Given the description of an element on the screen output the (x, y) to click on. 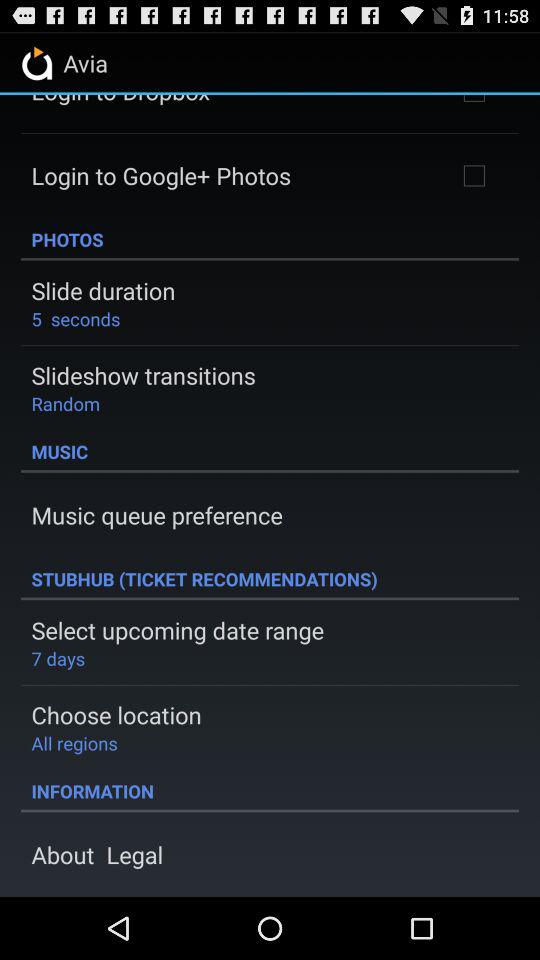
flip to the 7 days item (58, 658)
